Given the description of an element on the screen output the (x, y) to click on. 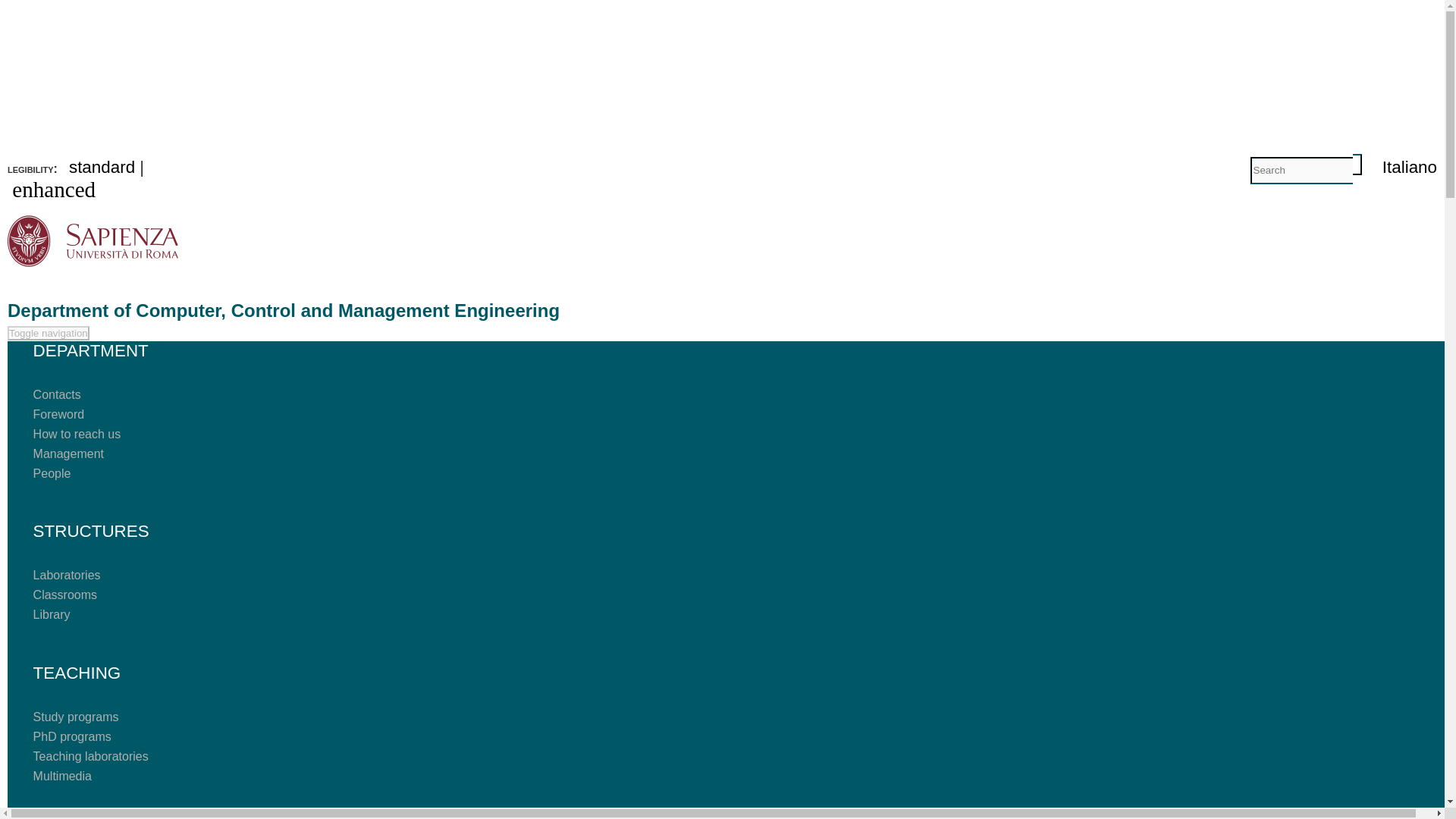
Enter the terms you wish to search for. (1301, 169)
STRUCTURES (110, 530)
standard (101, 167)
Department of Computer, Control and Management Engineering (283, 310)
Study programs (76, 716)
People (52, 472)
How to reach us (76, 433)
Multimedia (62, 775)
enhanced (53, 189)
Toggle navigation (47, 332)
Laboratories (66, 574)
TEACHING (95, 672)
Management (68, 453)
PhD programs (72, 736)
